Given the description of an element on the screen output the (x, y) to click on. 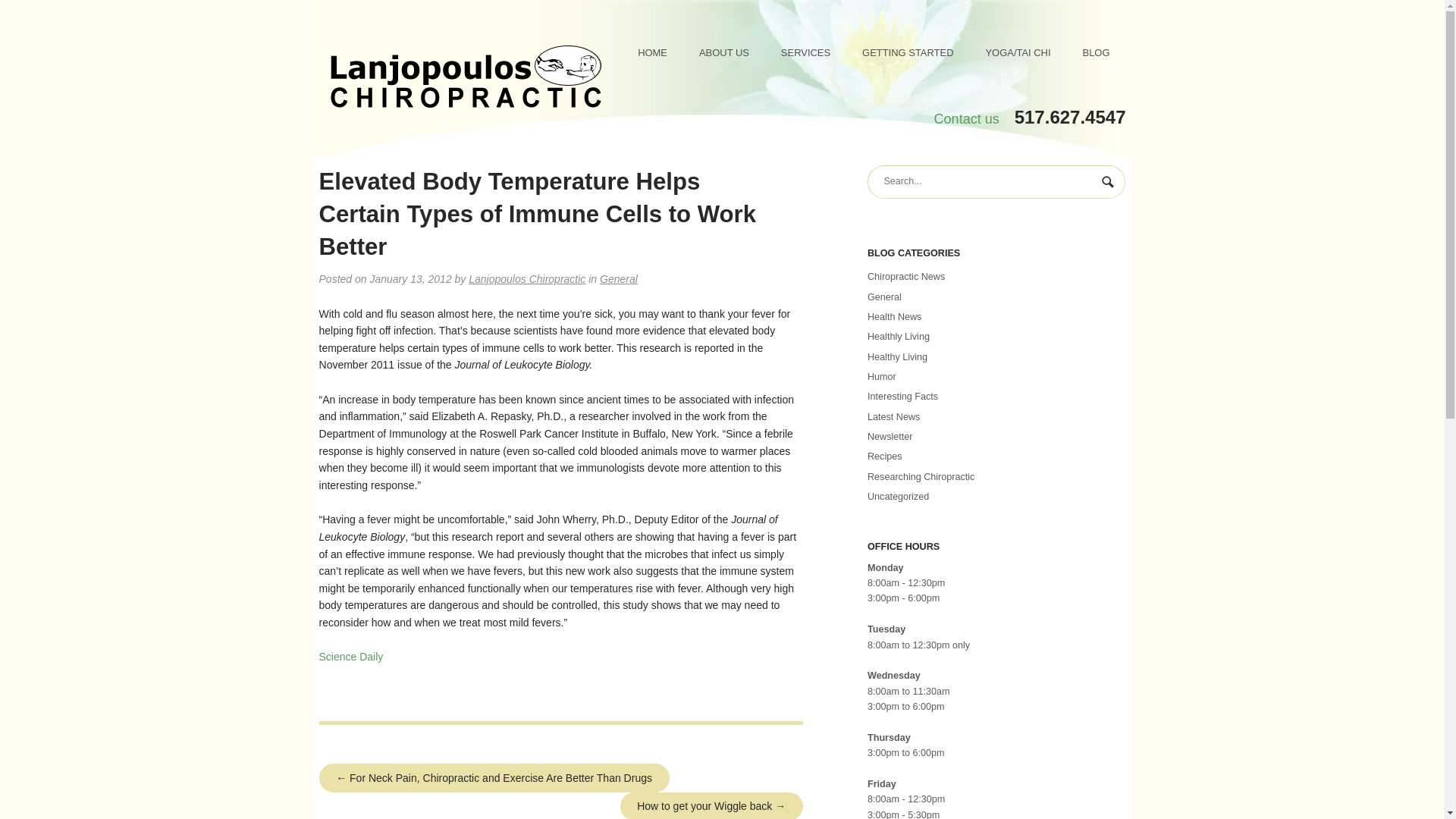
Search (1109, 183)
Contact us (966, 118)
Lanjopoulos Chiropractic (526, 278)
Search (1109, 183)
General (618, 278)
Humor (881, 376)
Interesting Facts (902, 396)
General (884, 296)
Posts by Lanjopoulos Chiropractic (526, 278)
Healthly Living (898, 336)
Recipes (884, 456)
Healthy Living (897, 357)
Newsletter (889, 436)
Search (1109, 183)
Chiropractic News (905, 276)
